Given the description of an element on the screen output the (x, y) to click on. 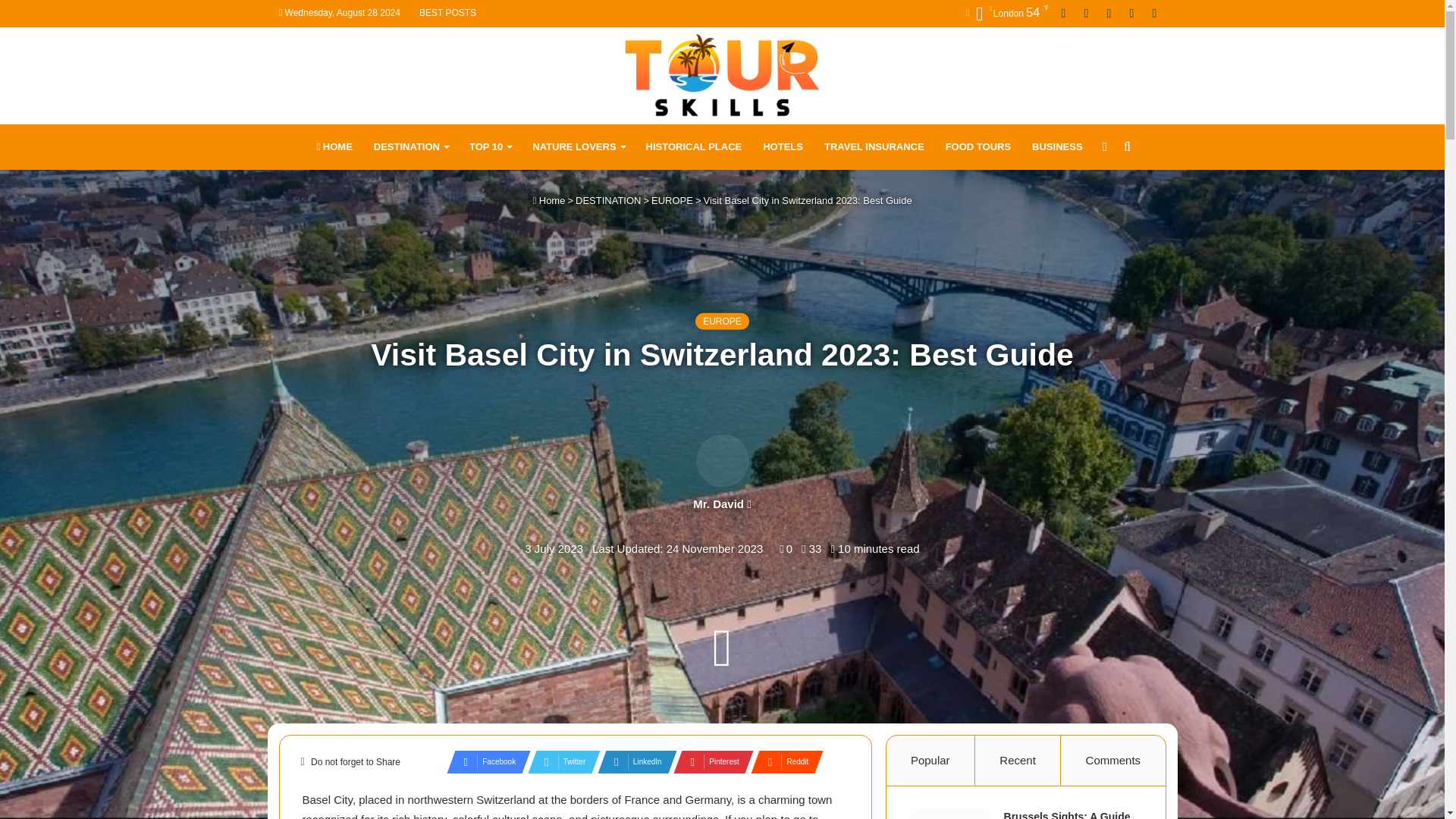
LinkedIn (632, 762)
HOME (333, 146)
Facebook (483, 762)
Mr. David (718, 502)
Scattered Clouds (1007, 13)
Twitter (559, 762)
TourSkills (721, 74)
Pinterest (708, 762)
DESTINATION (410, 146)
Reddit (782, 762)
